Given the description of an element on the screen output the (x, y) to click on. 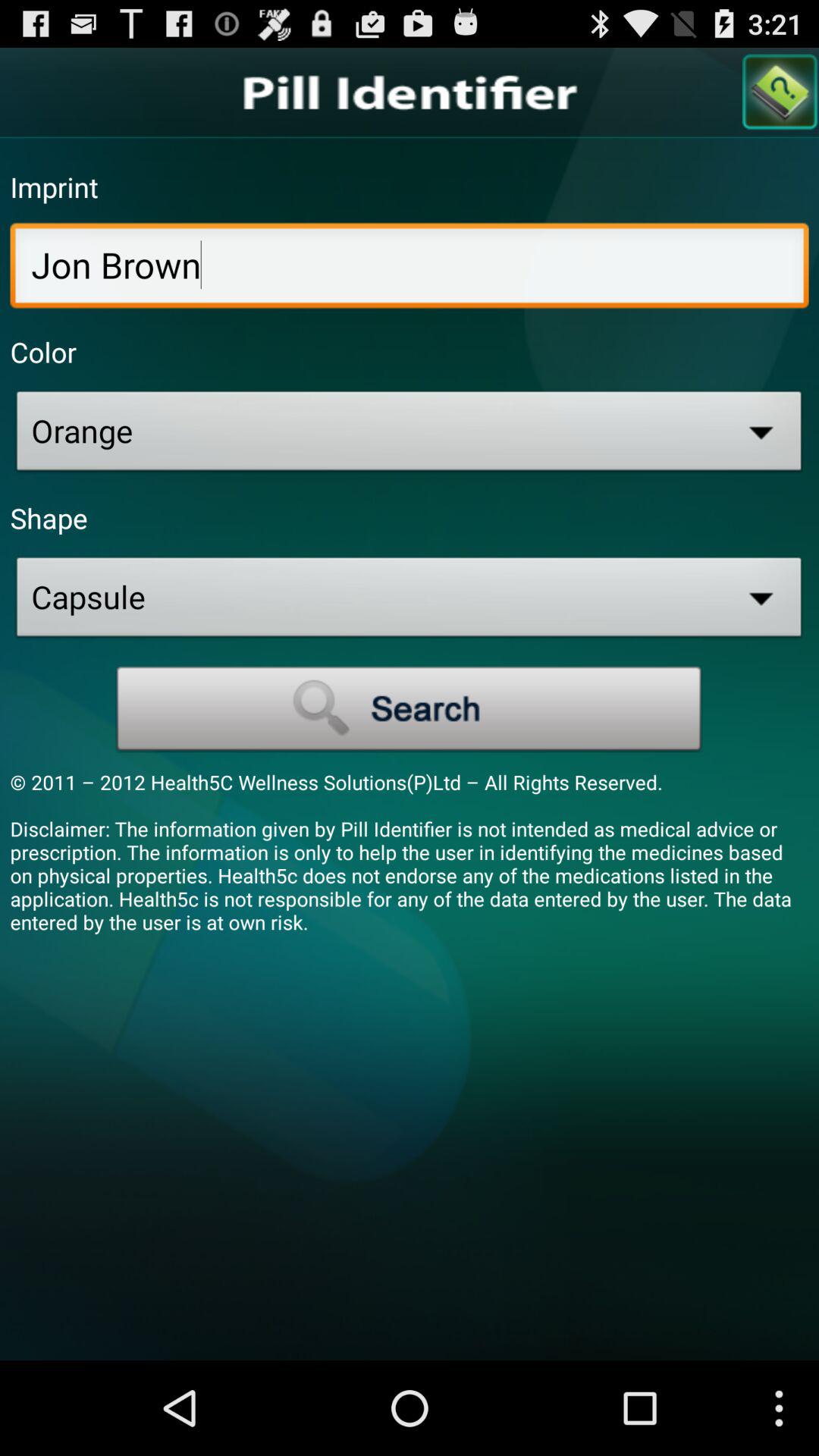
search for specifics (409, 709)
